Given the description of an element on the screen output the (x, y) to click on. 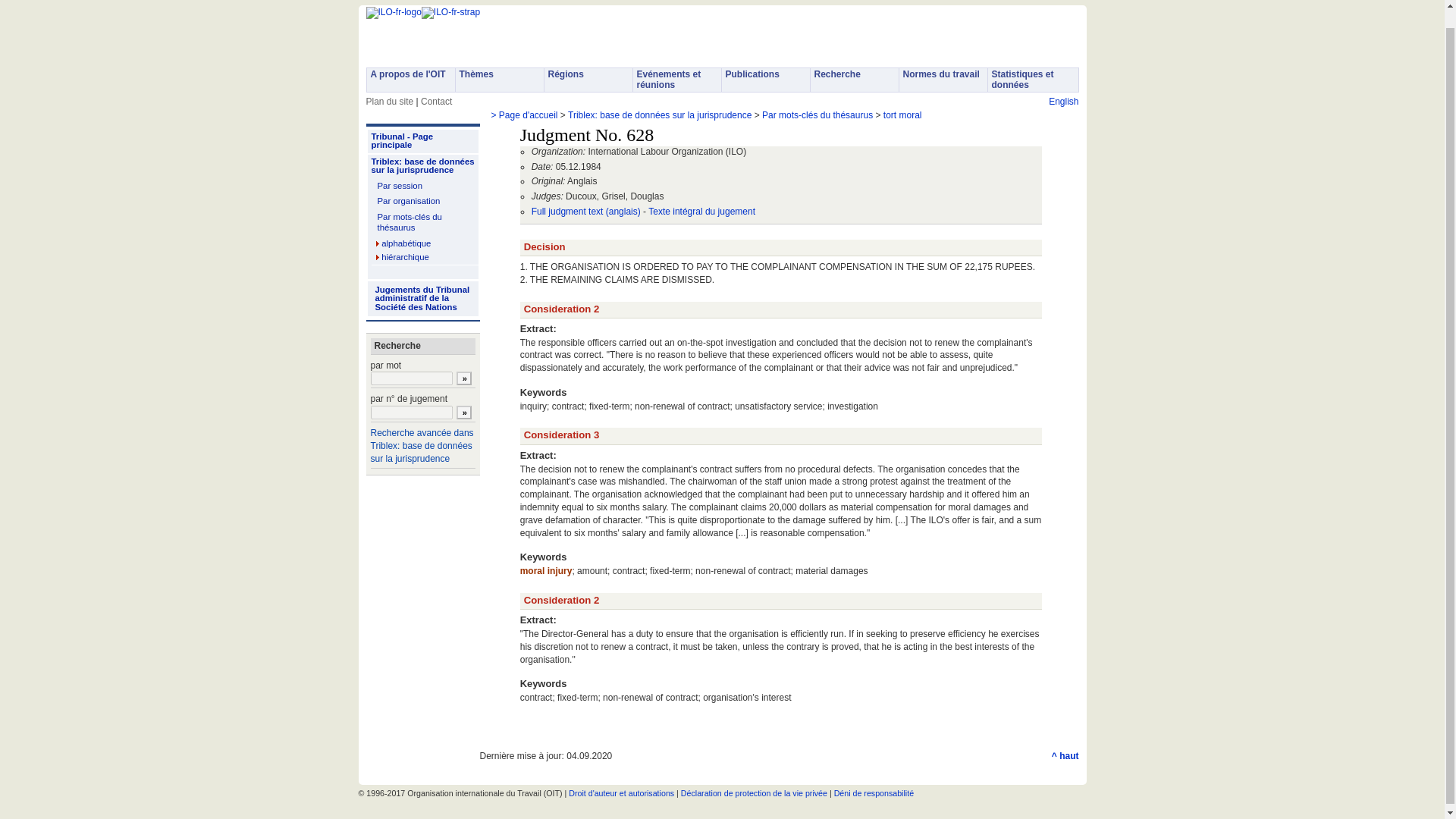
Par organisation (421, 201)
Tribunal - Page principale (421, 141)
Normes du travail (943, 79)
tort moral (902, 114)
Publications (765, 79)
Par session (421, 186)
A propos de l'OIT (410, 79)
Recherche (853, 79)
Droit d'auteur et autorisations (621, 792)
Contact (435, 101)
